Given the description of an element on the screen output the (x, y) to click on. 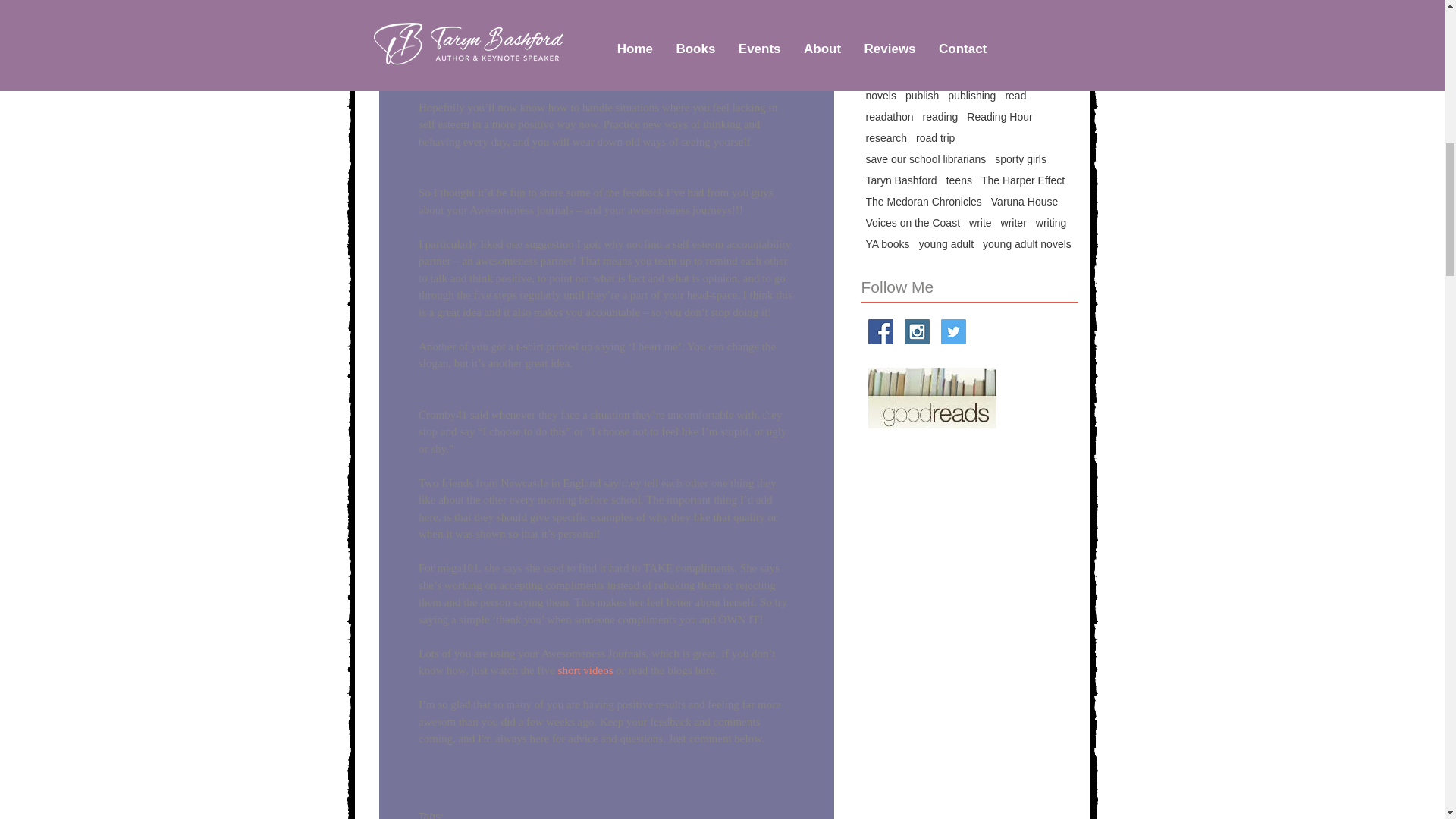
read (1015, 95)
elite athletes (896, 31)
middle grade novels (913, 73)
Every Library (964, 31)
publish (922, 95)
short videos (584, 670)
book (877, 10)
girls in sport (1034, 31)
Jessica Townsend (909, 52)
novels (881, 95)
book tour (920, 10)
booki drive (976, 10)
books (1025, 10)
readathon (890, 116)
novel (1043, 73)
